Given the description of an element on the screen output the (x, y) to click on. 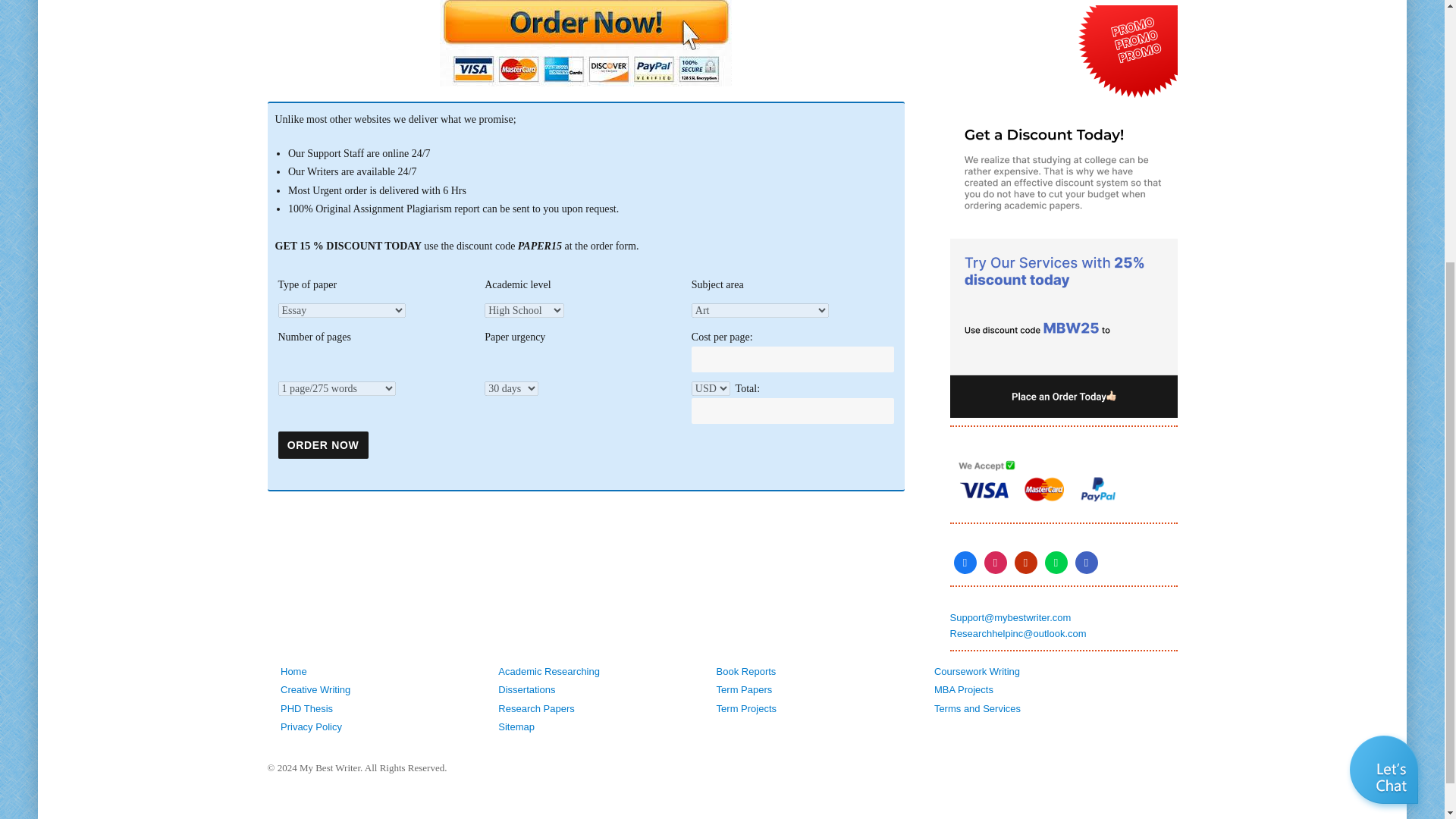
Academic Researching (548, 671)
Order total (792, 411)
Home (294, 671)
Instagram (994, 562)
Facebook (964, 562)
Book Reports (746, 671)
Order Now (323, 445)
Cost per page (792, 359)
Subject area (759, 310)
Academic level (524, 310)
Type of paper (379, 311)
Whatsapp (1055, 562)
Paper urgency (511, 388)
Youtube (1025, 562)
Coursework Writing (977, 671)
